Given the description of an element on the screen output the (x, y) to click on. 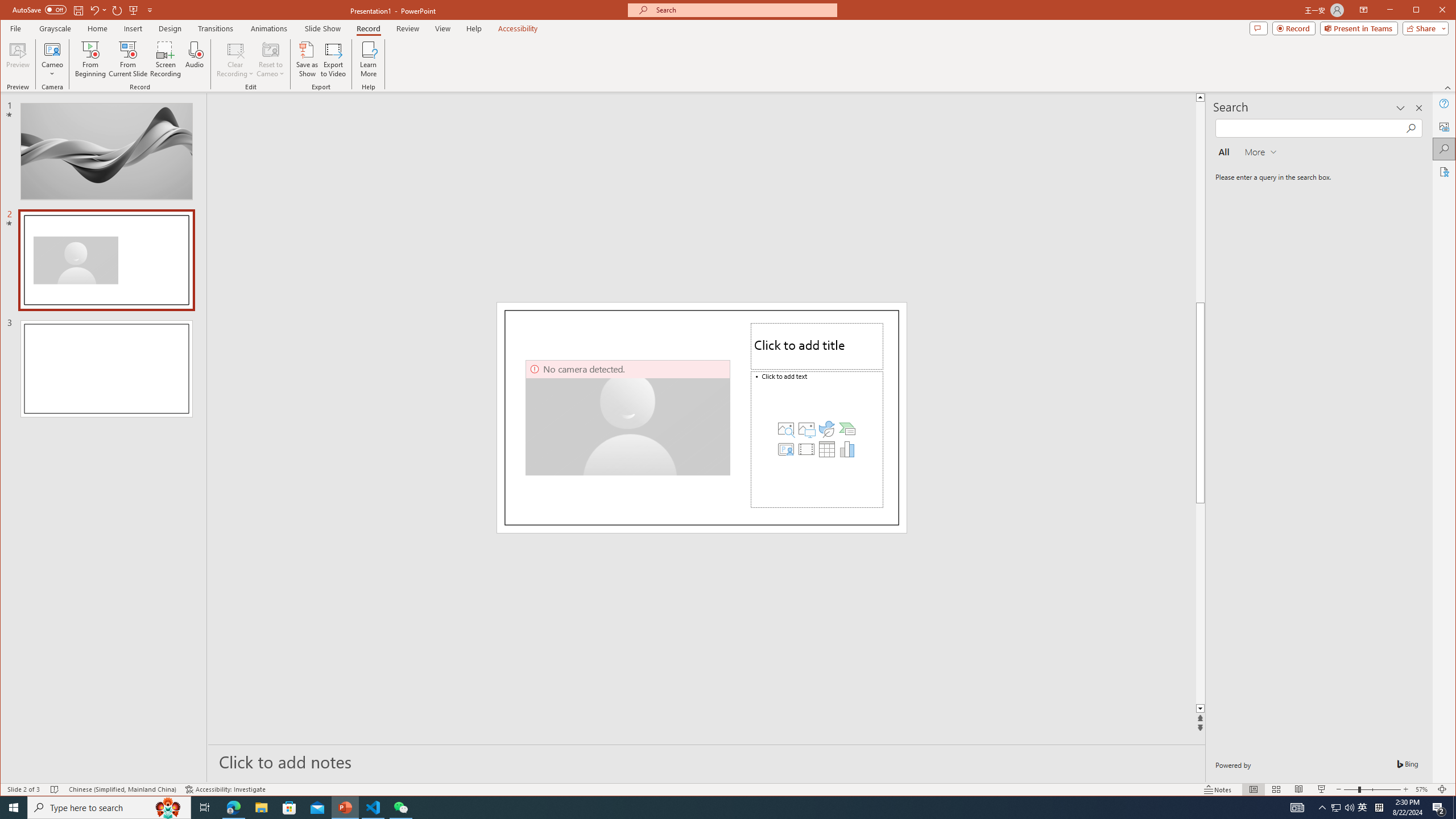
Clear Recording (234, 59)
Insert Video (806, 449)
Reset to Cameo (269, 59)
